Given the description of an element on the screen output the (x, y) to click on. 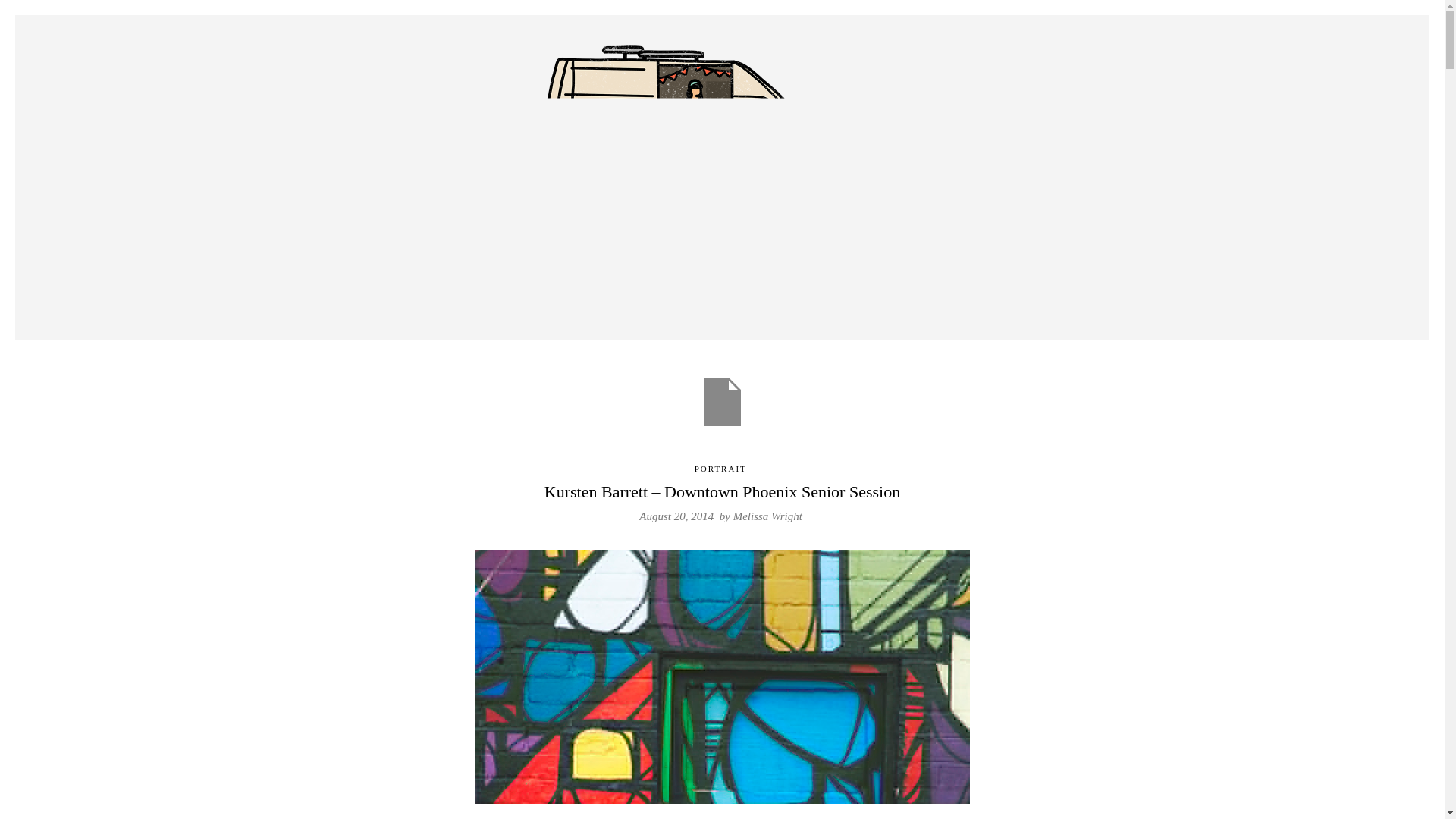
Melissa Wright (767, 516)
PORTRAIT (720, 468)
